Given the description of an element on the screen output the (x, y) to click on. 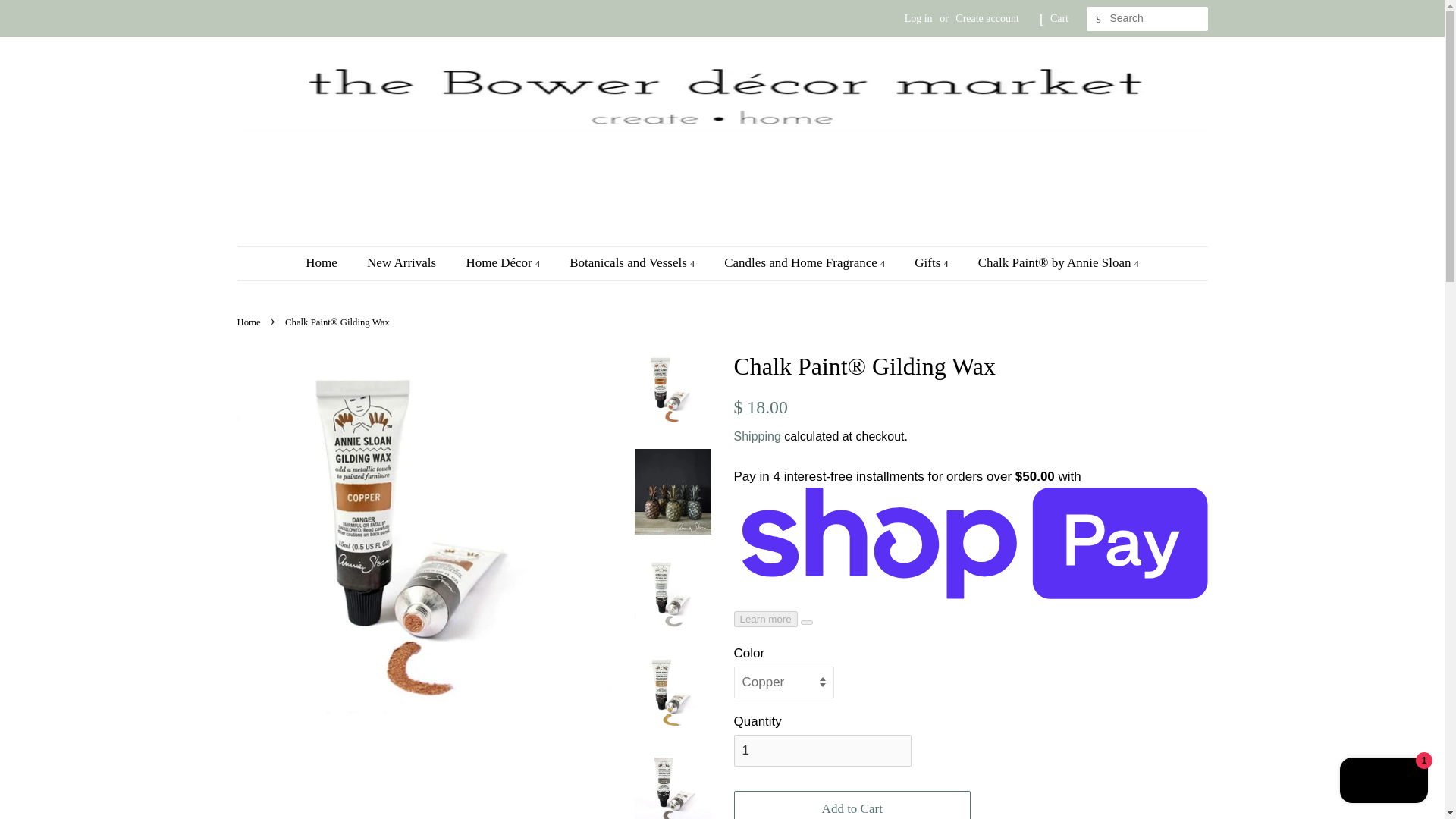
1 (822, 750)
Back to the frontpage (249, 321)
Shopify online store chat (1383, 781)
Create account (987, 18)
Log in (918, 18)
Cart (1058, 18)
Search (1097, 18)
